Given the description of an element on the screen output the (x, y) to click on. 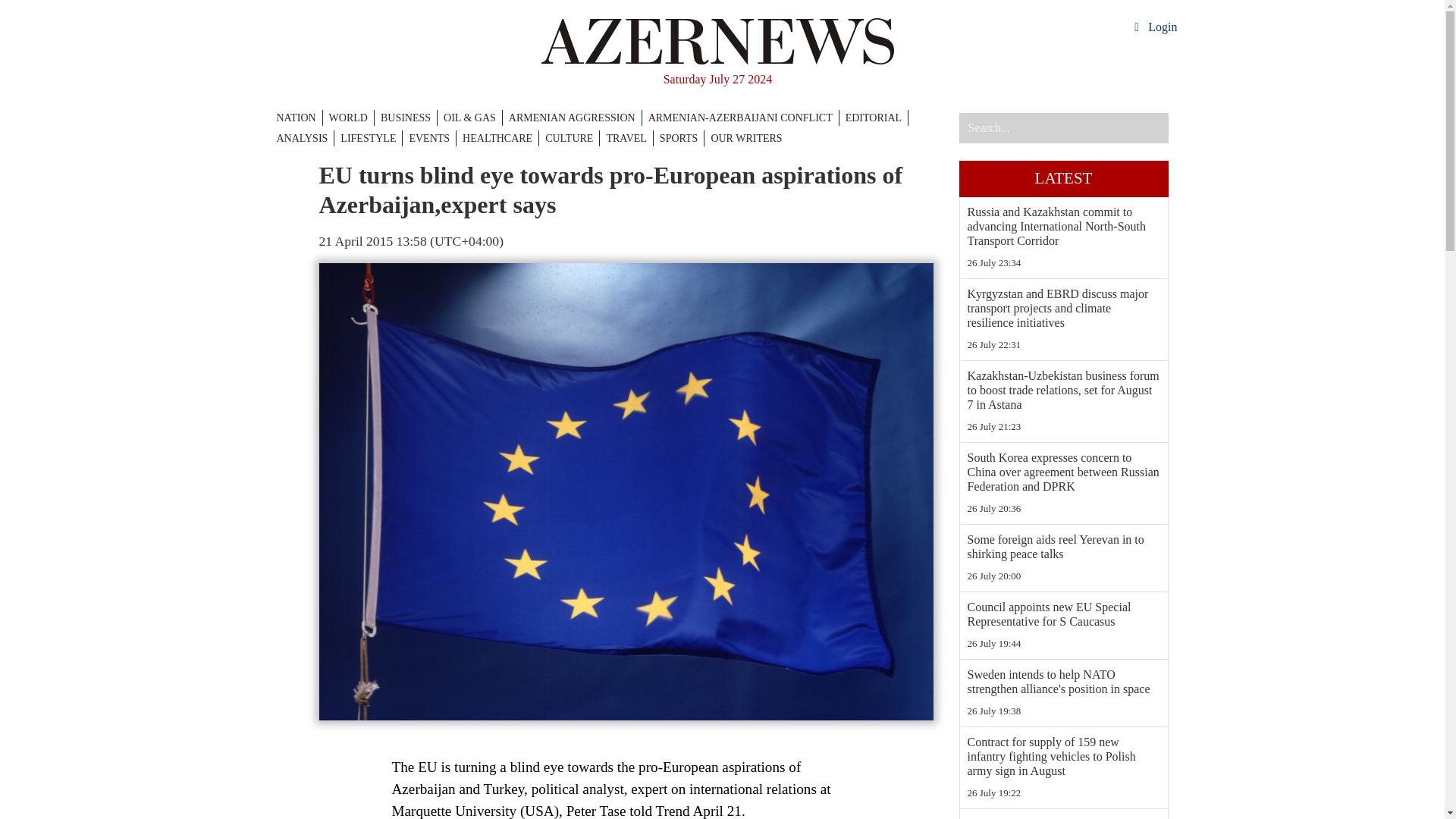
LATEST (1062, 178)
26 July 23:34 (1064, 263)
26 July 22:31 (1064, 344)
SPORTS (681, 138)
LIFESTYLE (371, 138)
EVENTS (433, 138)
26 July 21:23 (1064, 426)
WORLD (351, 117)
BUSINESS (409, 117)
NATION (298, 117)
ANALYSIS (305, 138)
EDITORIAL (876, 117)
